Given the description of an element on the screen output the (x, y) to click on. 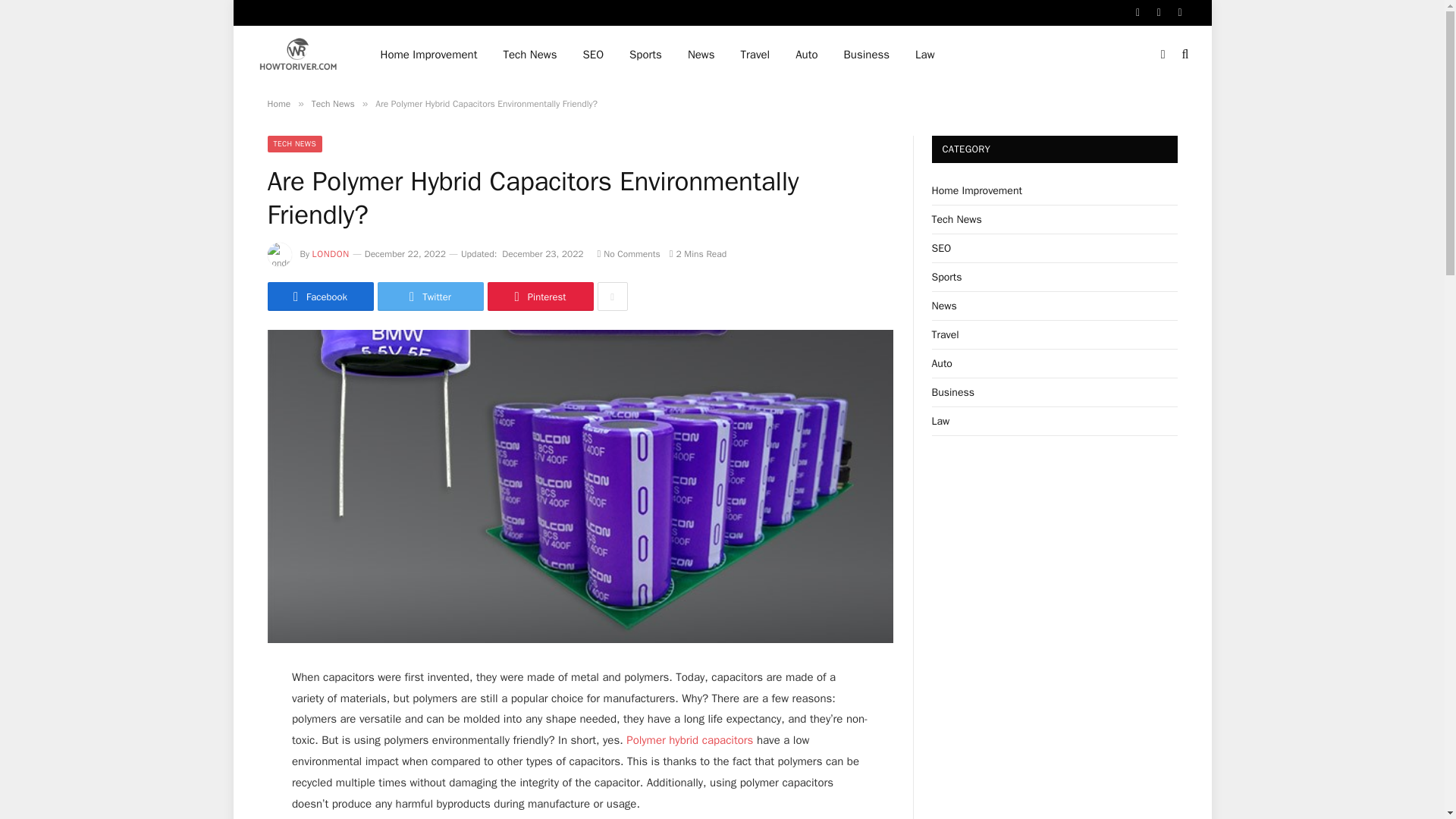
Tech News (333, 103)
News (701, 54)
LONDON (331, 254)
Business (866, 54)
Home (277, 103)
No Comments (628, 254)
Sports (645, 54)
Switch to Dark Design - easier on eyes. (1163, 54)
Travel (755, 54)
Share on Facebook (319, 296)
Howtoriver.com (298, 54)
Share on Pinterest (539, 296)
Pinterest (539, 296)
Twitter (430, 296)
Posts by London (331, 254)
